Given the description of an element on the screen output the (x, y) to click on. 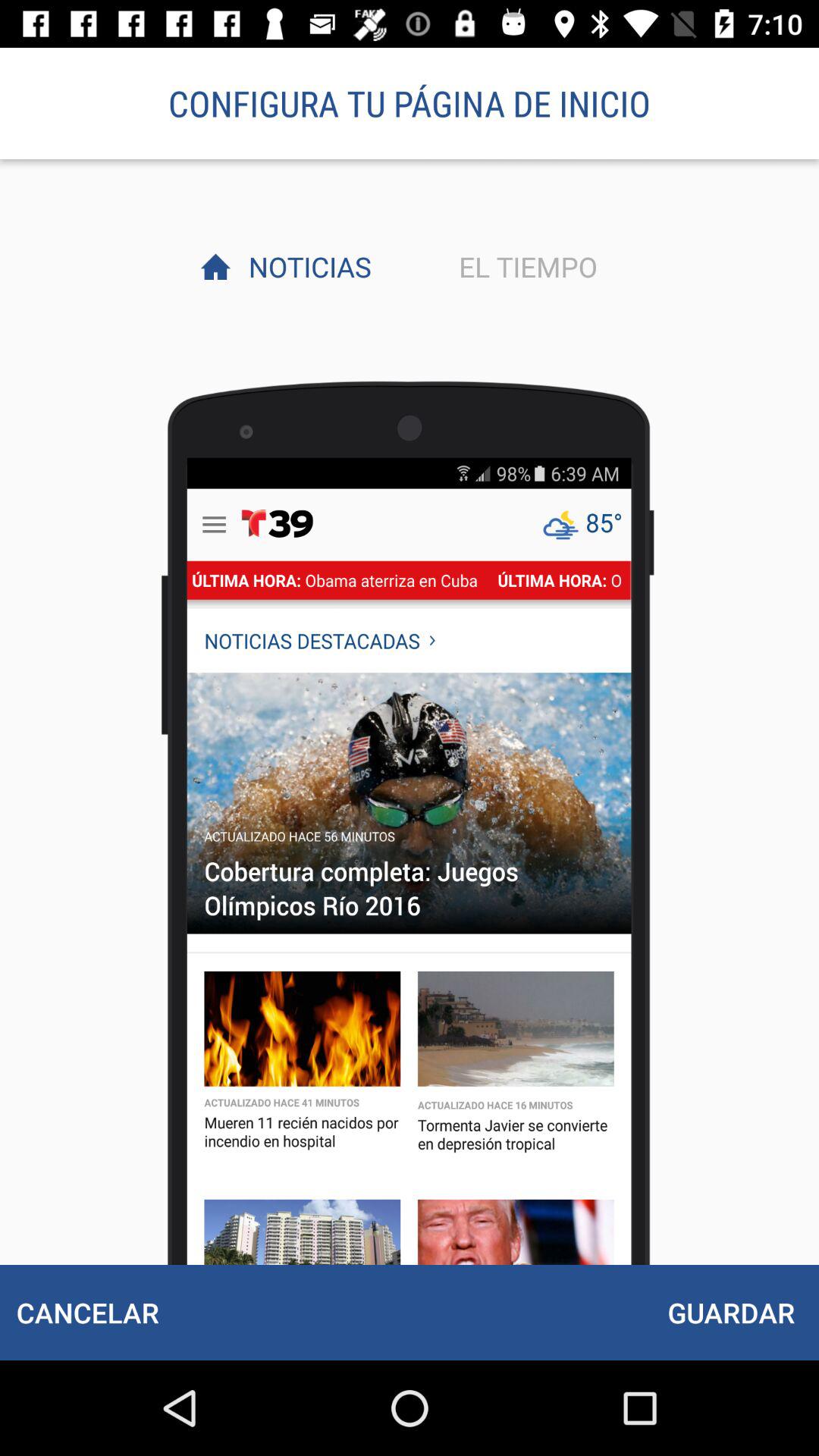
scroll to the cancelar icon (87, 1312)
